Given the description of an element on the screen output the (x, y) to click on. 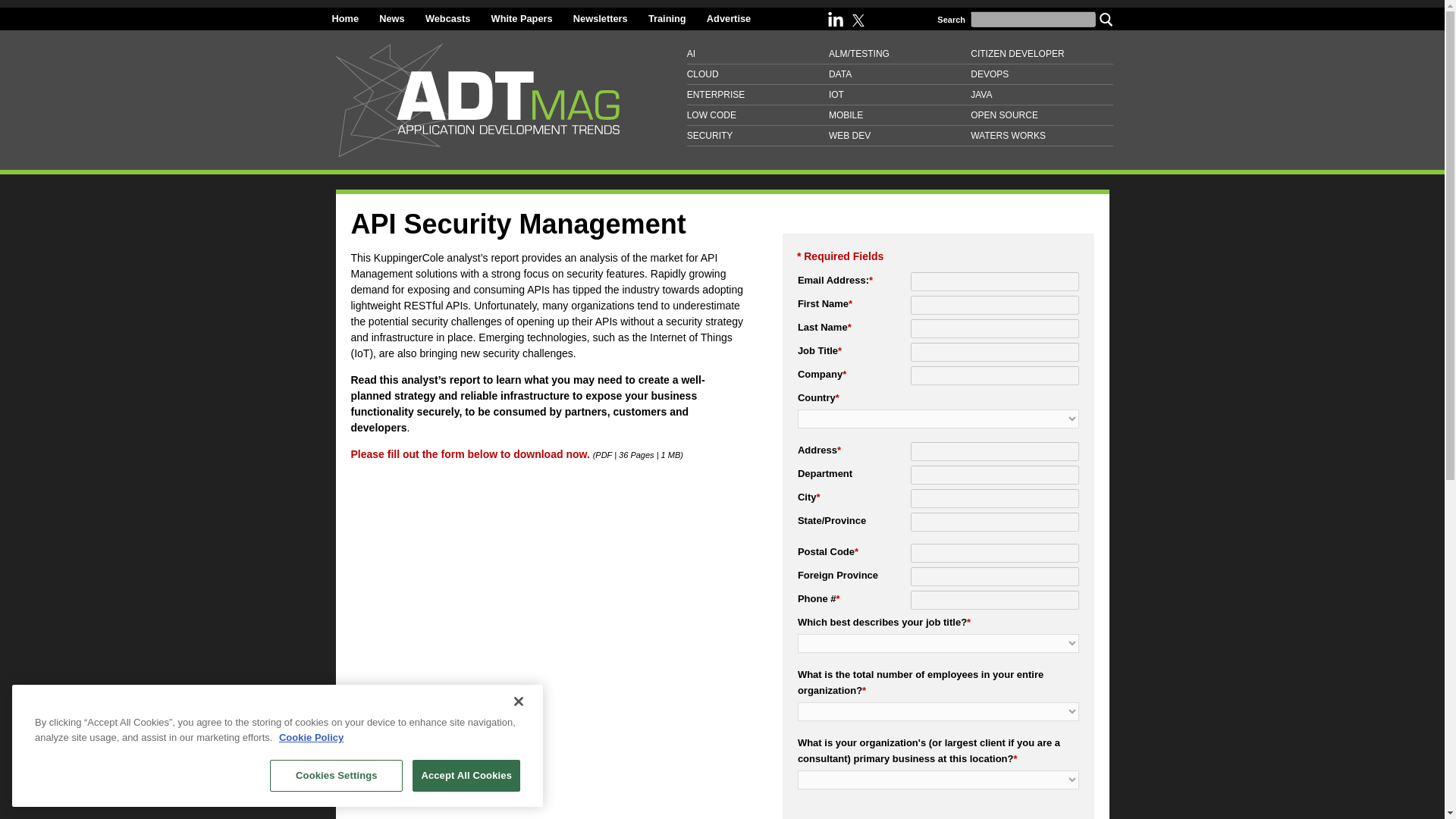
IOT (899, 95)
News (391, 18)
Advertise (728, 18)
DEVOPS (1041, 74)
Home (345, 18)
CLOUD (757, 74)
DATA (899, 74)
AI (757, 54)
WATERS WORKS (1041, 136)
Webcasts (447, 18)
Search (1106, 18)
ENTERPRISE (757, 95)
White Papers (522, 18)
MOBILE (899, 115)
CITIZEN DEVELOPER (1041, 54)
